Given the description of an element on the screen output the (x, y) to click on. 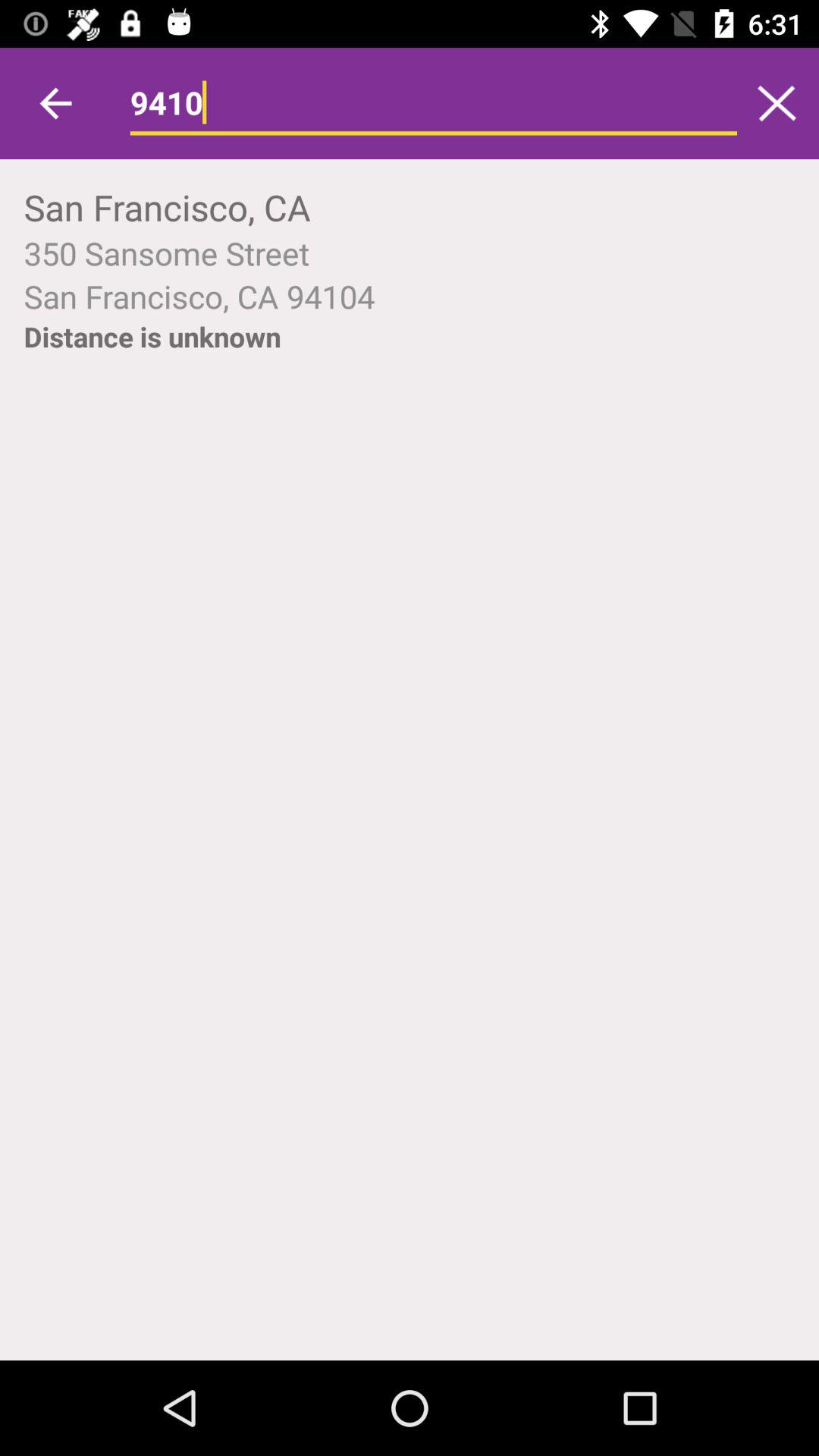
turn on the 350 sansome street item (409, 252)
